Given the description of an element on the screen output the (x, y) to click on. 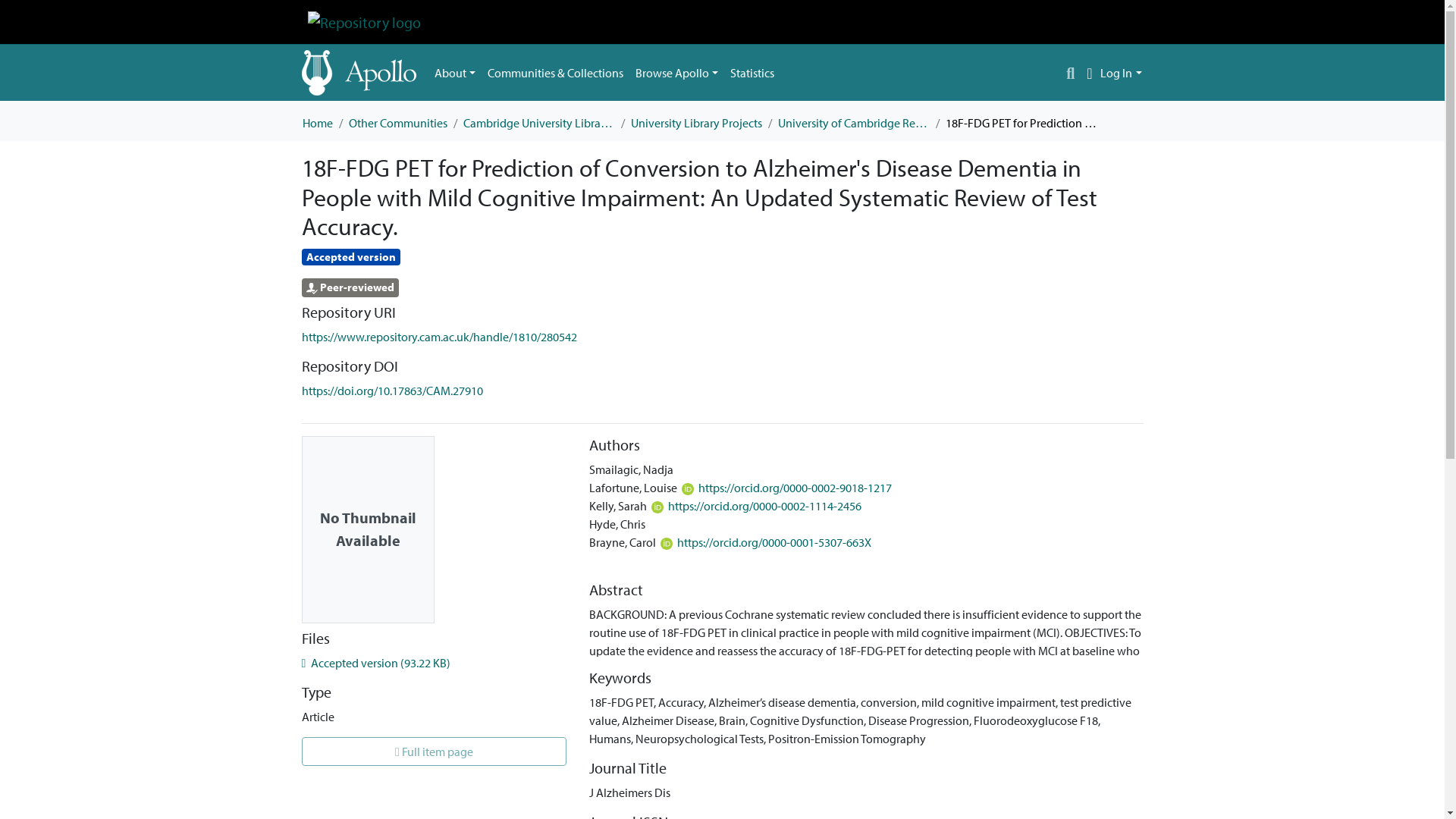
About (454, 72)
Statistics (751, 72)
Home (316, 122)
Browse Apollo (675, 72)
Statistics (751, 72)
Log In (1120, 72)
Other Communities (397, 122)
Full item page (434, 751)
University Library Projects (695, 122)
Cambridge University Libraries (538, 122)
Search (1070, 72)
Language switch (1089, 72)
